Given the description of an element on the screen output the (x, y) to click on. 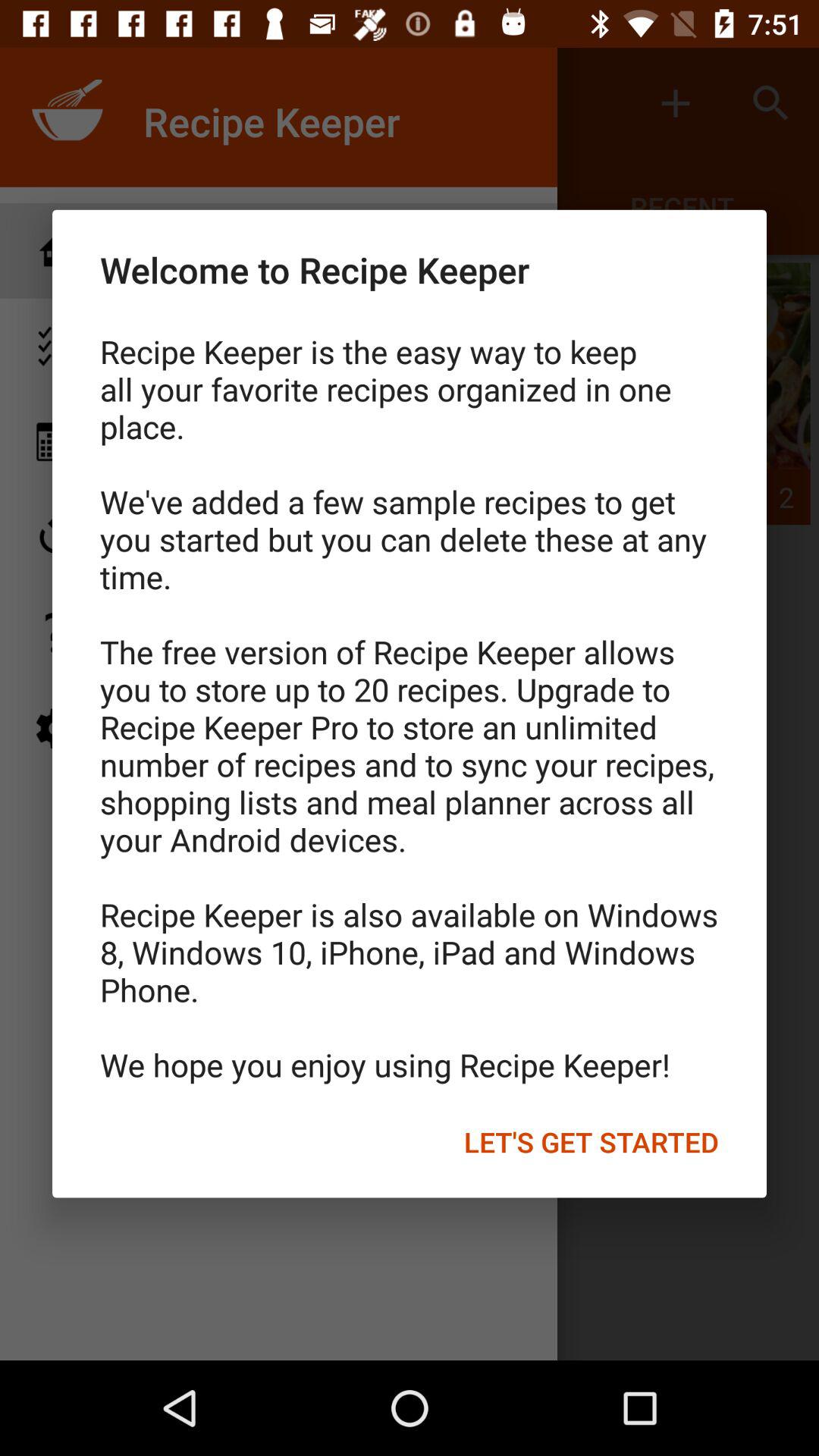
select icon below the recipe keeper is icon (591, 1141)
